Given the description of an element on the screen output the (x, y) to click on. 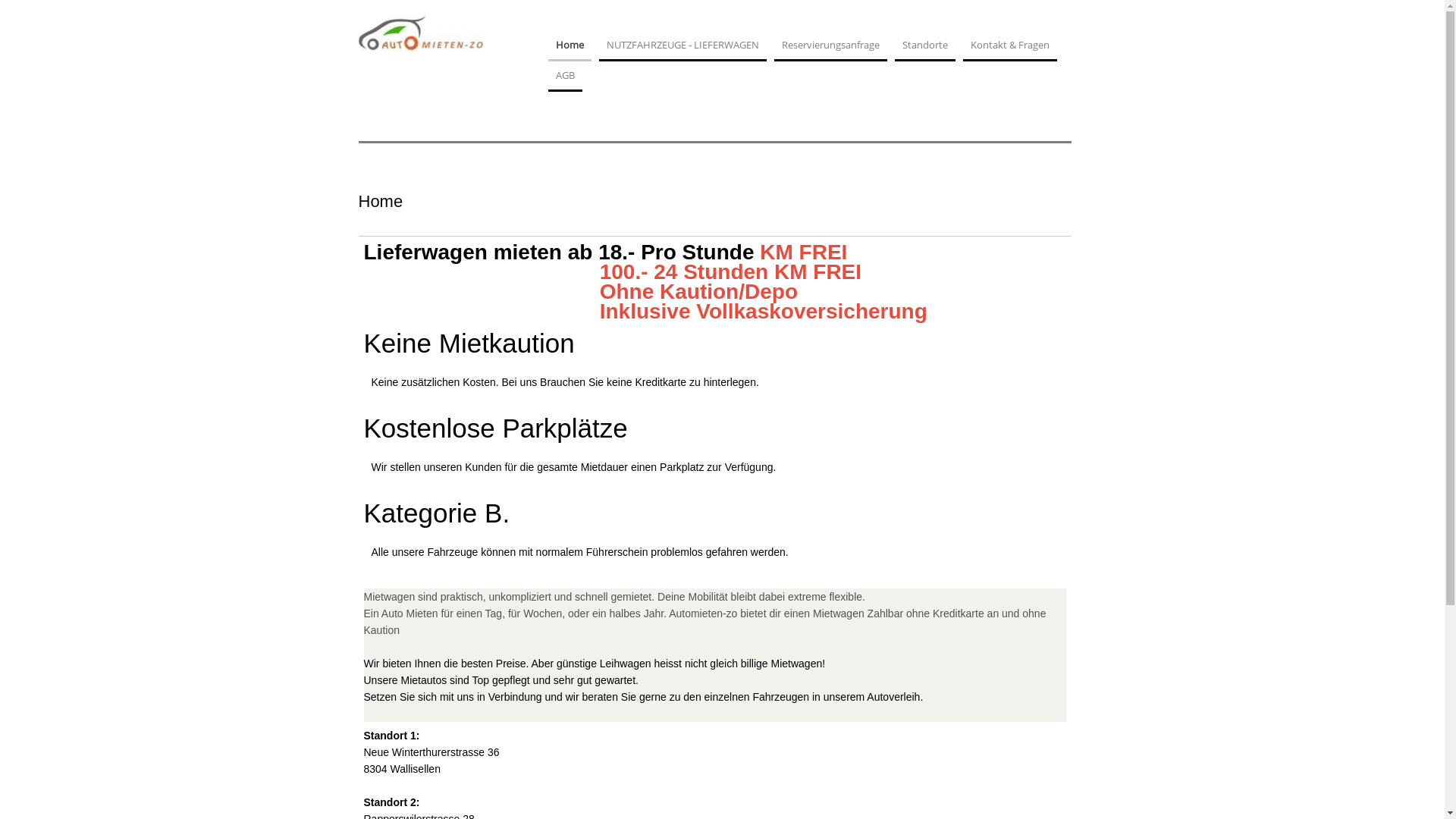
Kontakt & Fragen Element type: text (1010, 49)
Home Element type: text (568, 49)
Standorte Element type: text (924, 49)
AGB Element type: text (564, 79)
NUTZFAHRZEUGE - LIEFERWAGEN Element type: text (682, 49)
Reservierungsanfrage Element type: text (829, 49)
